Given the description of an element on the screen output the (x, y) to click on. 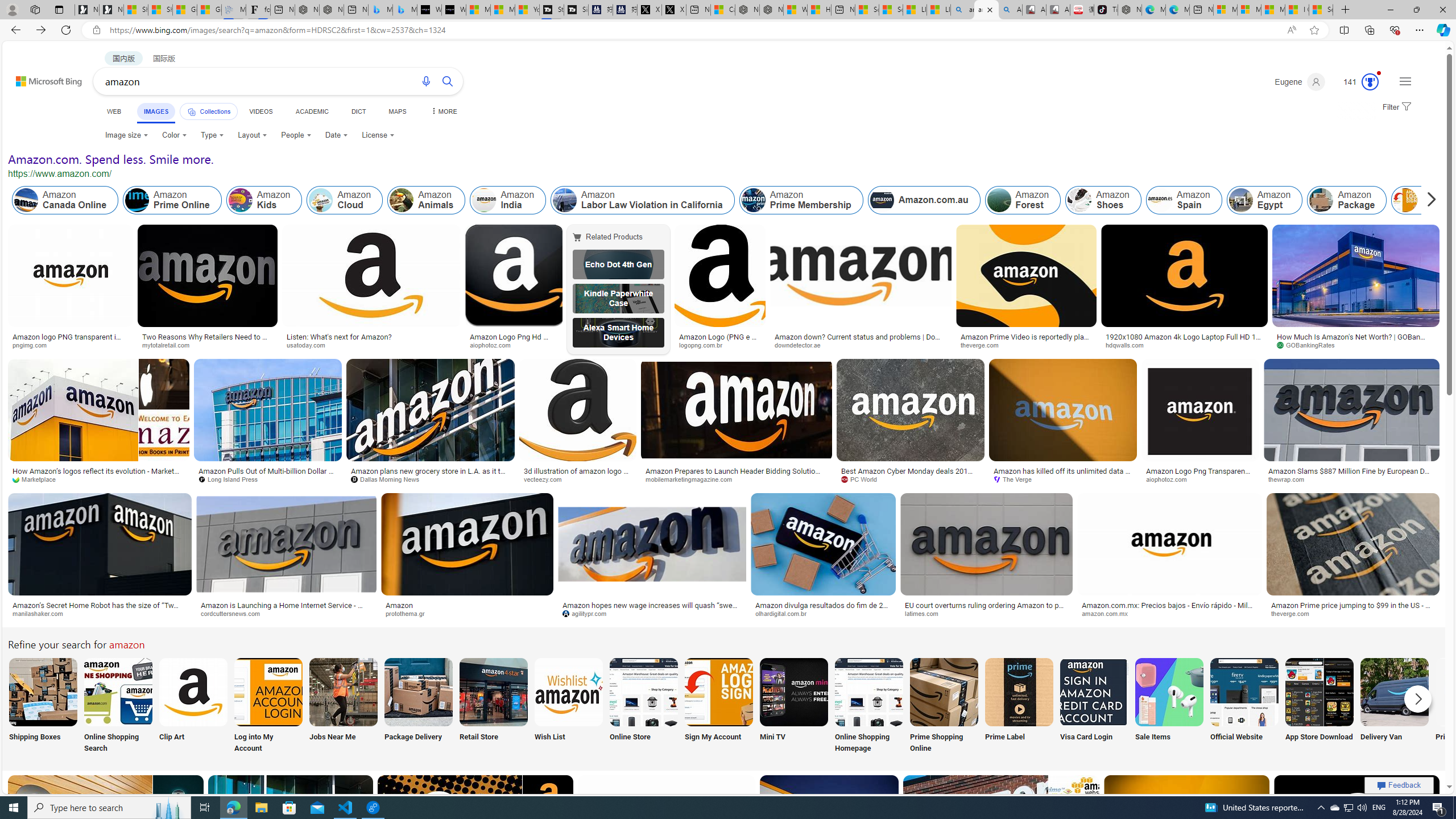
Amazon Package Delivery (418, 691)
Amazon Shipping Boxes (42, 691)
Amazon Canada Online (65, 199)
Class: b_pri_nav_svg (191, 112)
All Cubot phones (1057, 9)
MAPS (397, 111)
cordcuttersnews.com (233, 612)
